Given the description of an element on the screen output the (x, y) to click on. 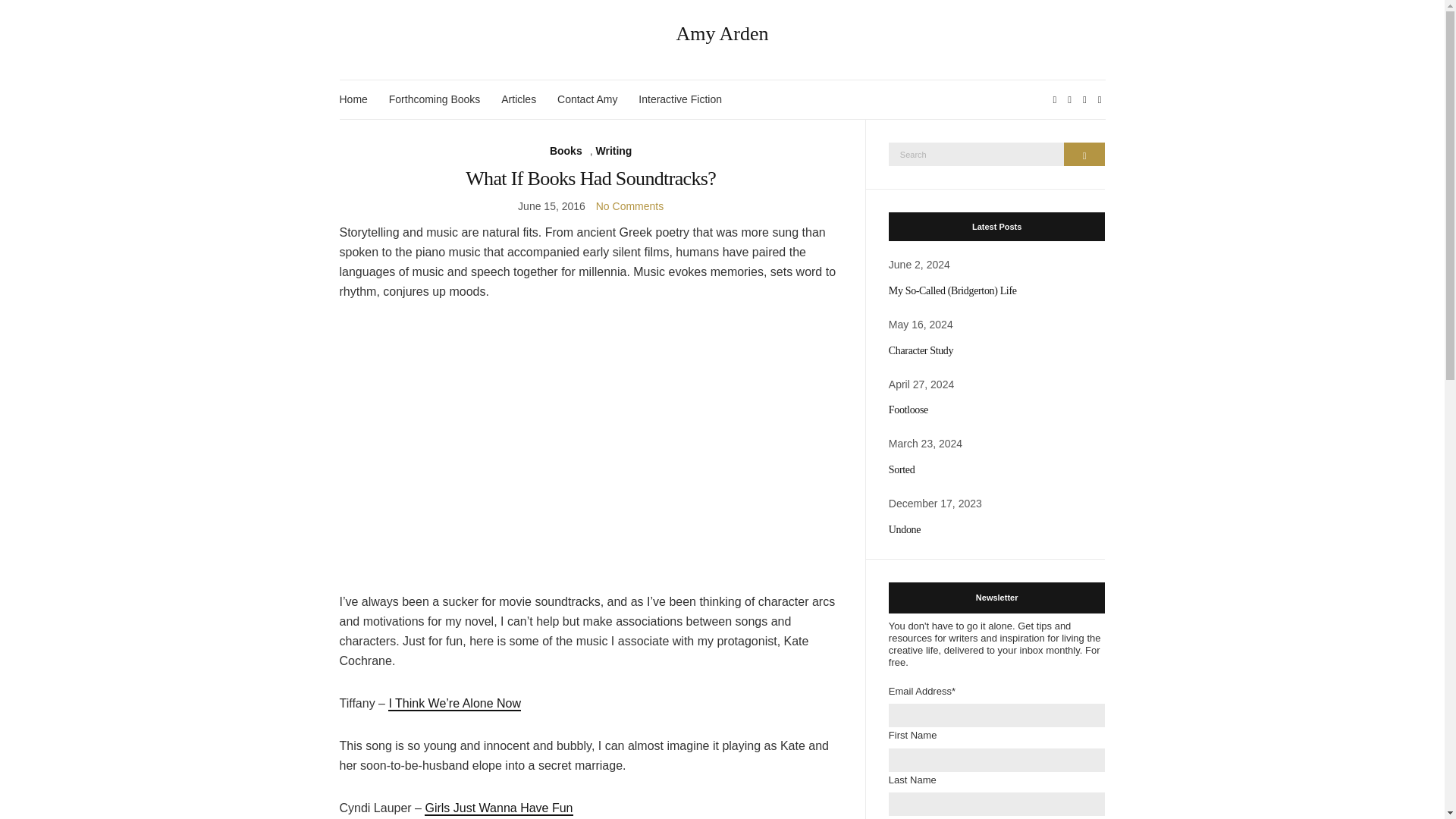
Home (353, 99)
Sorted (901, 469)
Books (566, 150)
Search (1084, 154)
Girls Just Wanna Have Fun (498, 808)
Contact Amy (587, 99)
Interactive Fiction (680, 99)
Character Study (920, 350)
Footloose (908, 409)
What If Books Had Soundtracks? (590, 178)
Forthcoming Books (434, 99)
Amy Arden (722, 33)
Articles (517, 99)
Undone (904, 529)
Writing (613, 150)
